Given the description of an element on the screen output the (x, y) to click on. 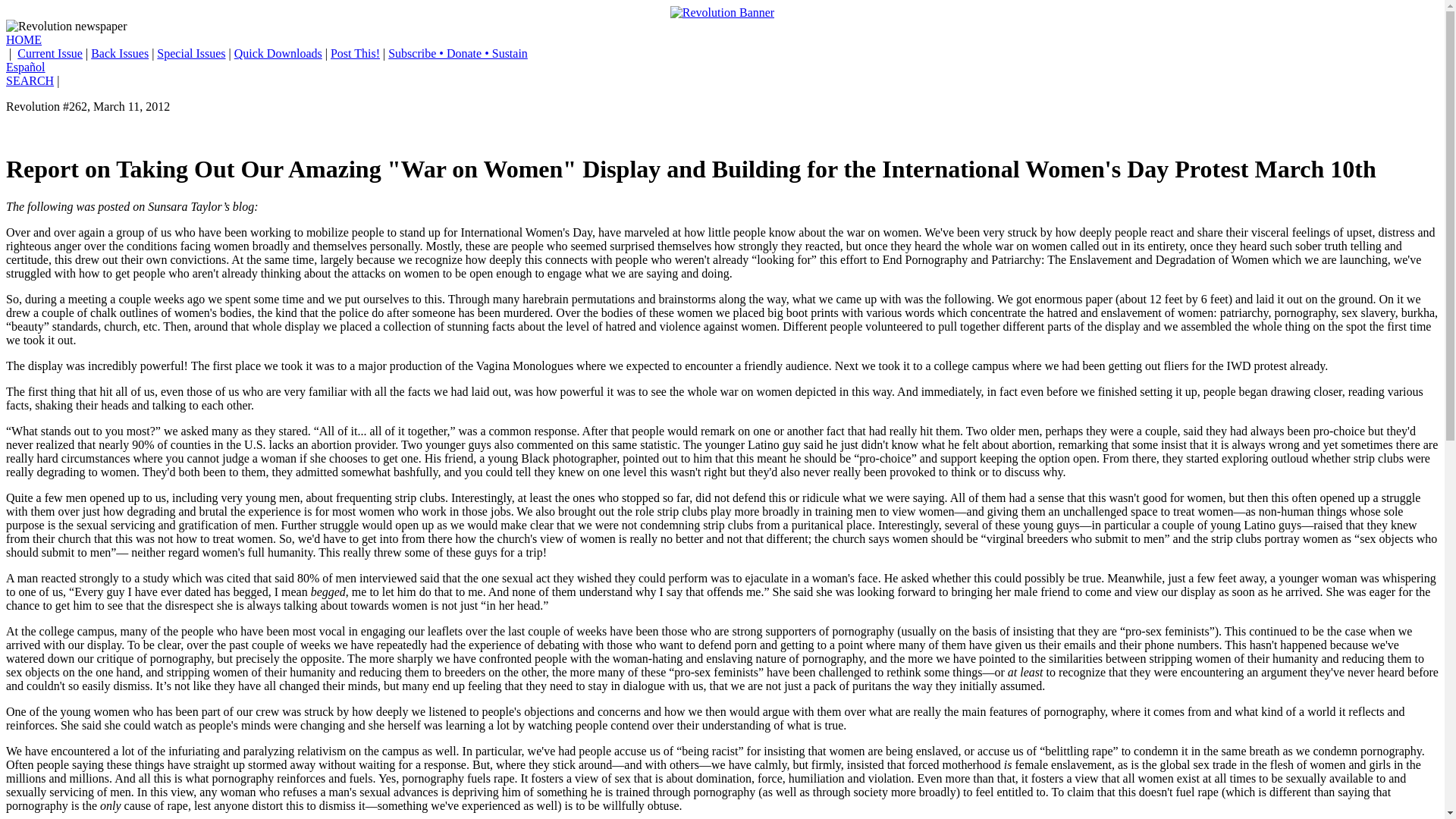
Back Issues (119, 52)
HOME (23, 39)
Special Issues (191, 52)
Post This! (355, 52)
SEARCH (29, 80)
Current Issue (49, 52)
Quick Downloads (277, 52)
